Given the description of an element on the screen output the (x, y) to click on. 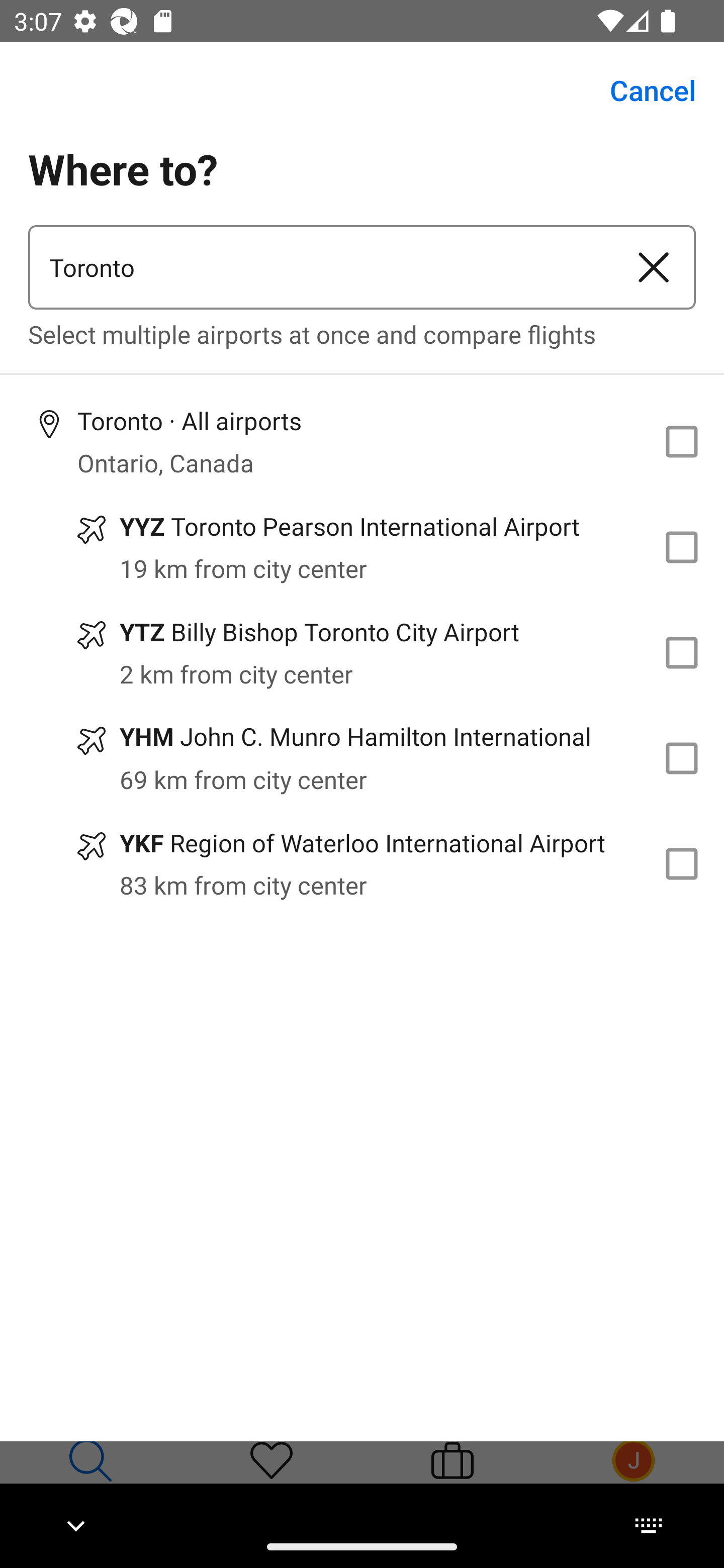
Cancel (641, 90)
Toronto (319, 266)
Clear airport or city (653, 266)
Toronto · All airports Ontario, Canada (362, 440)
